Given the description of an element on the screen output the (x, y) to click on. 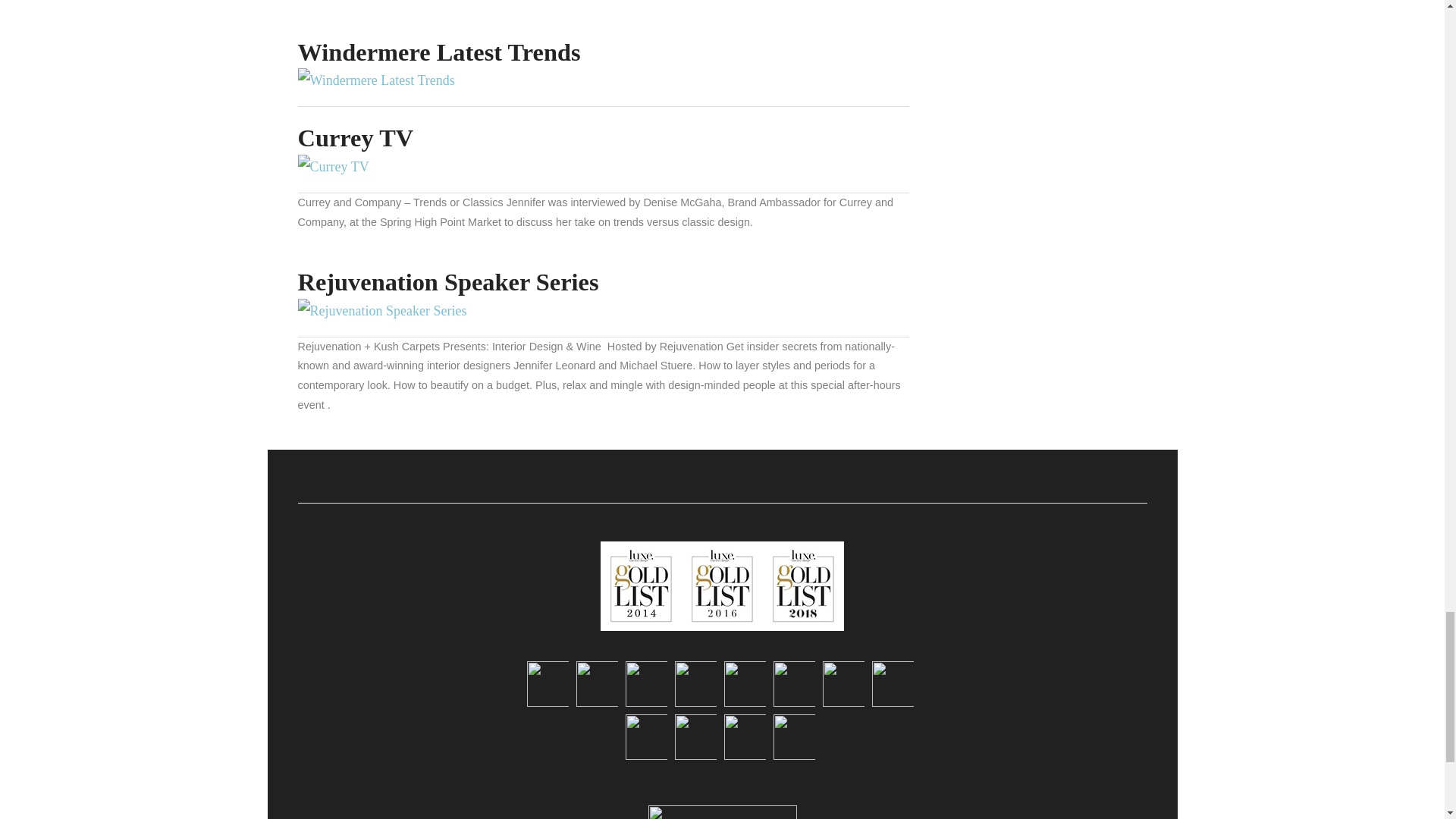
Currey TV (355, 137)
Currey TV (332, 166)
Windermere Latest Trends (438, 52)
Windermere Latest Trends (375, 79)
Rejuvenation Speaker Series (381, 310)
